Given the description of an element on the screen output the (x, y) to click on. 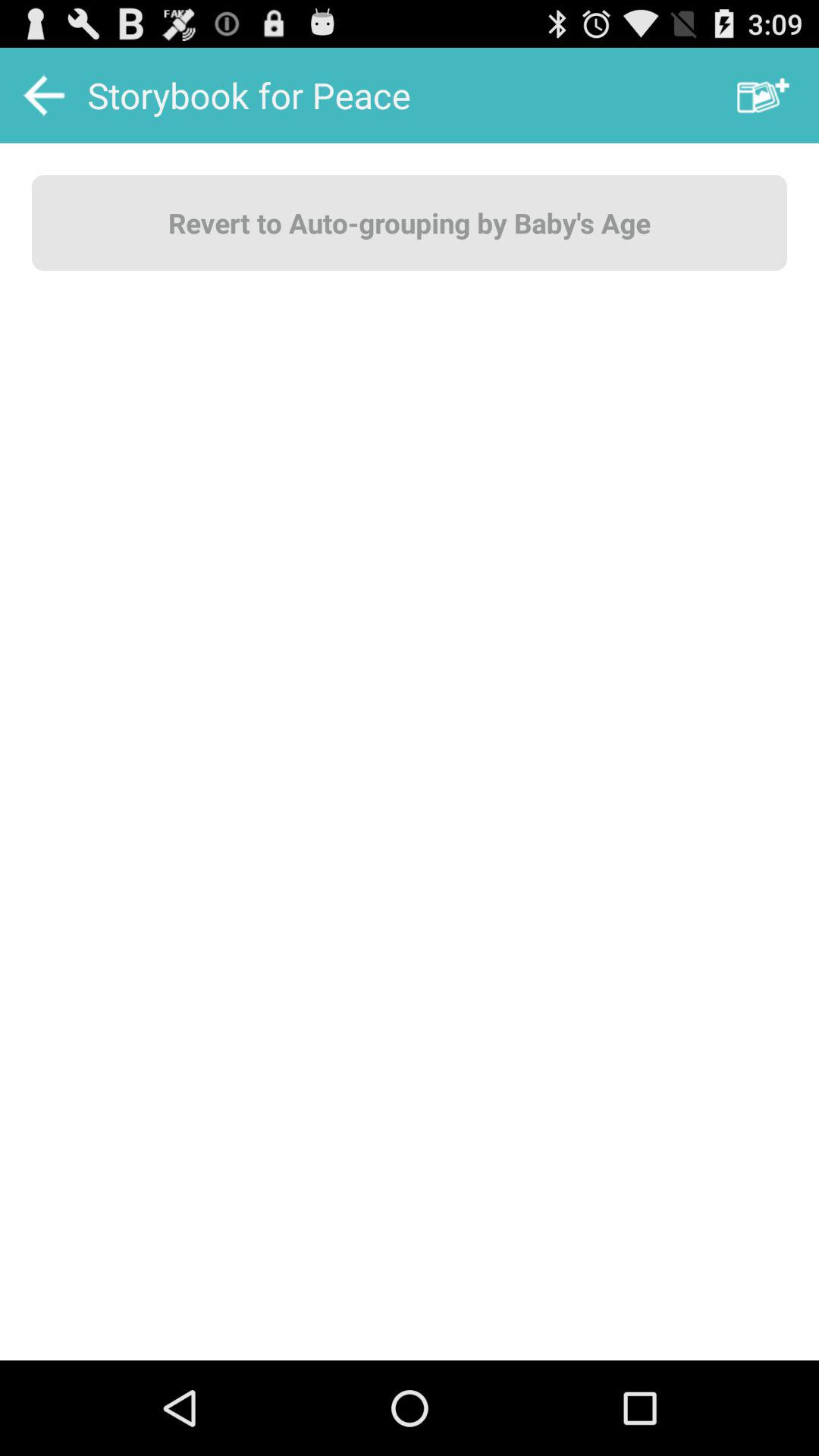
open icon next to the storybook for peace icon (763, 95)
